Given the description of an element on the screen output the (x, y) to click on. 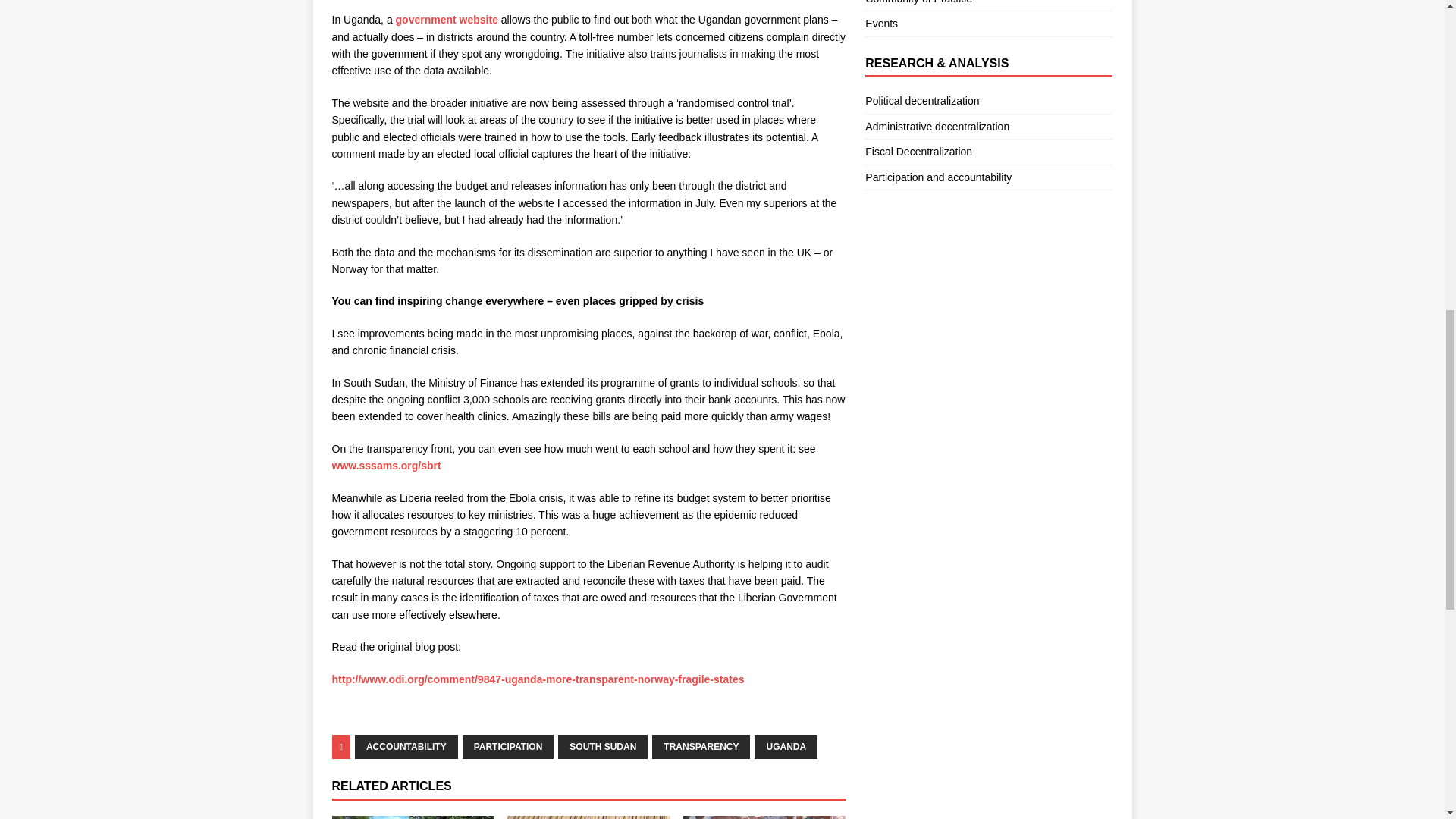
Decentralized Local Health Services in Tanzania (413, 817)
Local Government Discretion and Accountability (763, 817)
